Given the description of an element on the screen output the (x, y) to click on. 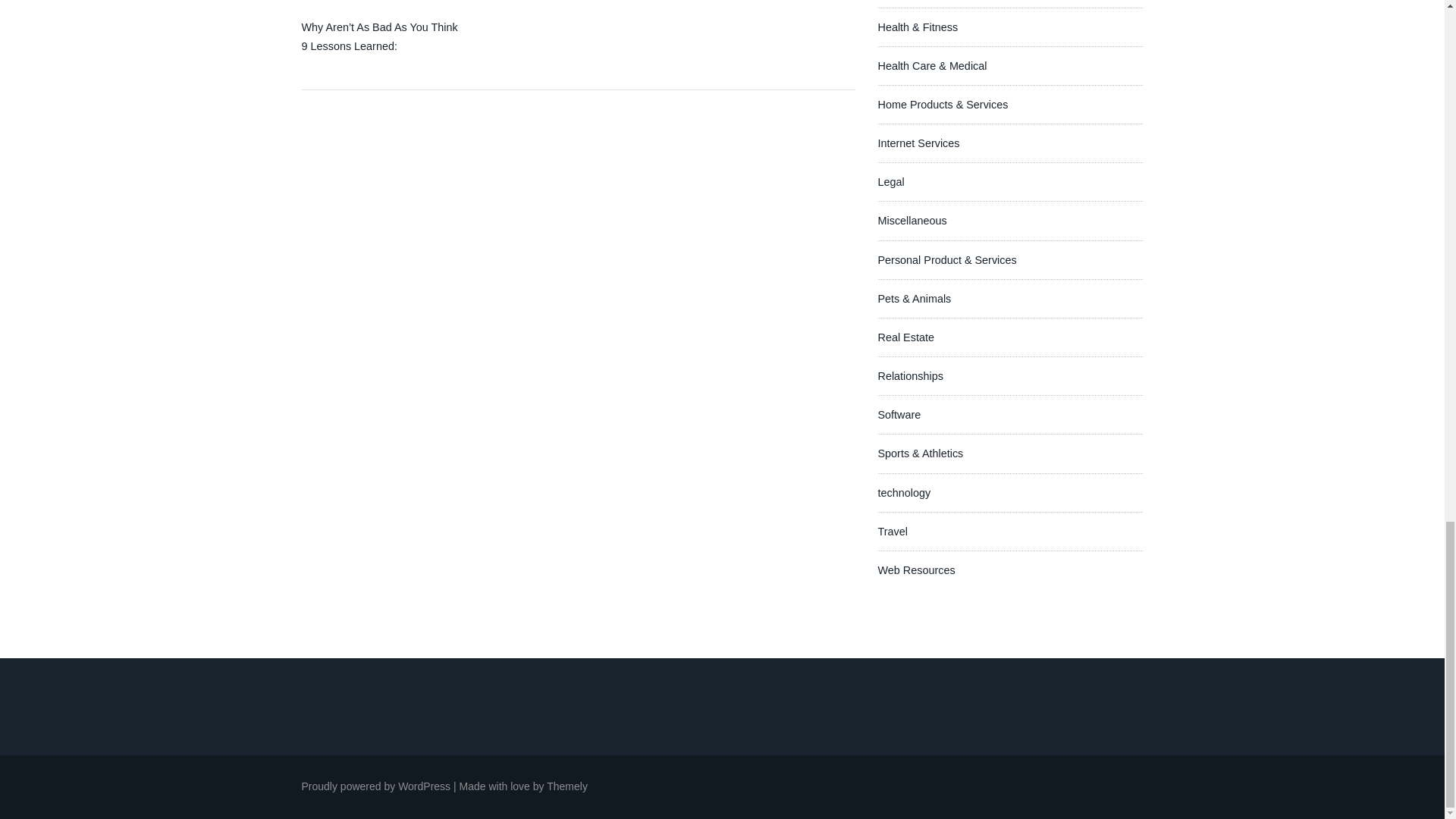
9 Lessons Learned: (349, 46)
